Given the description of an element on the screen output the (x, y) to click on. 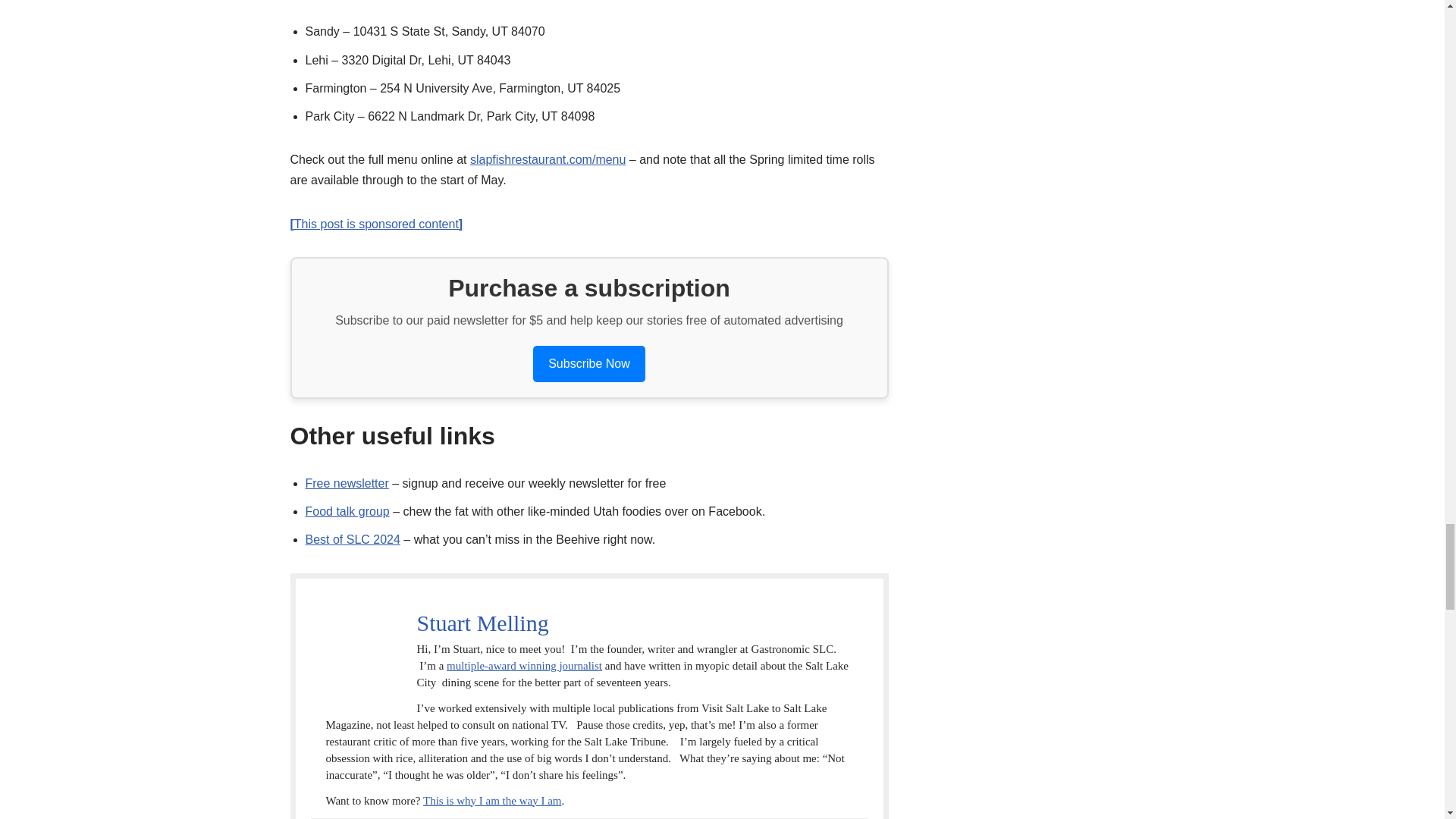
Food talk group (346, 511)
multiple-award winning journalist (524, 665)
Stuart Melling (482, 621)
Free newsletter (346, 482)
Subscribe Now (588, 363)
Best of SLC 2024 (351, 539)
